Given the description of an element on the screen output the (x, y) to click on. 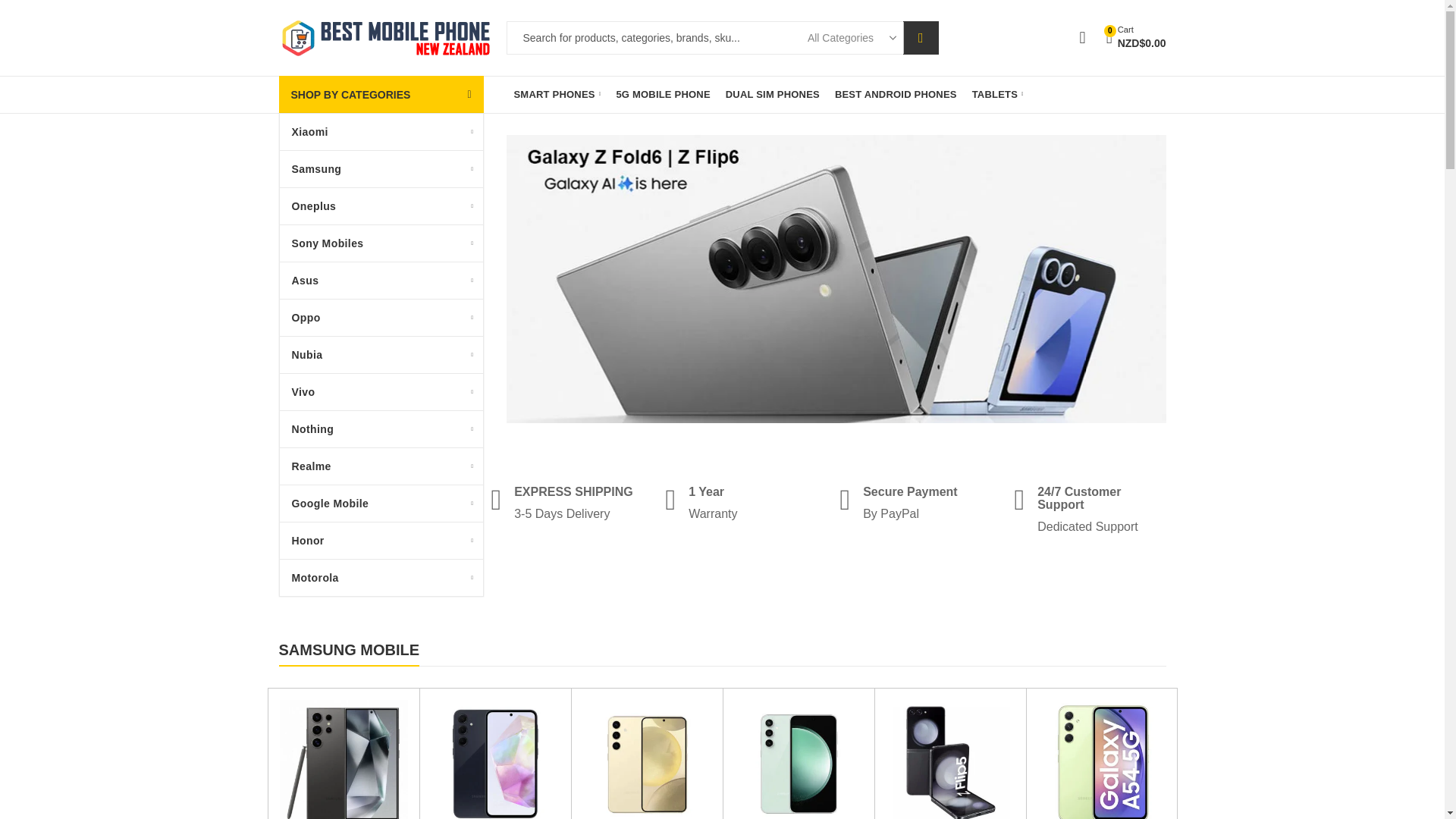
SEARCH (920, 37)
Xiaomi (380, 131)
Samsung (380, 168)
